Given the description of an element on the screen output the (x, y) to click on. 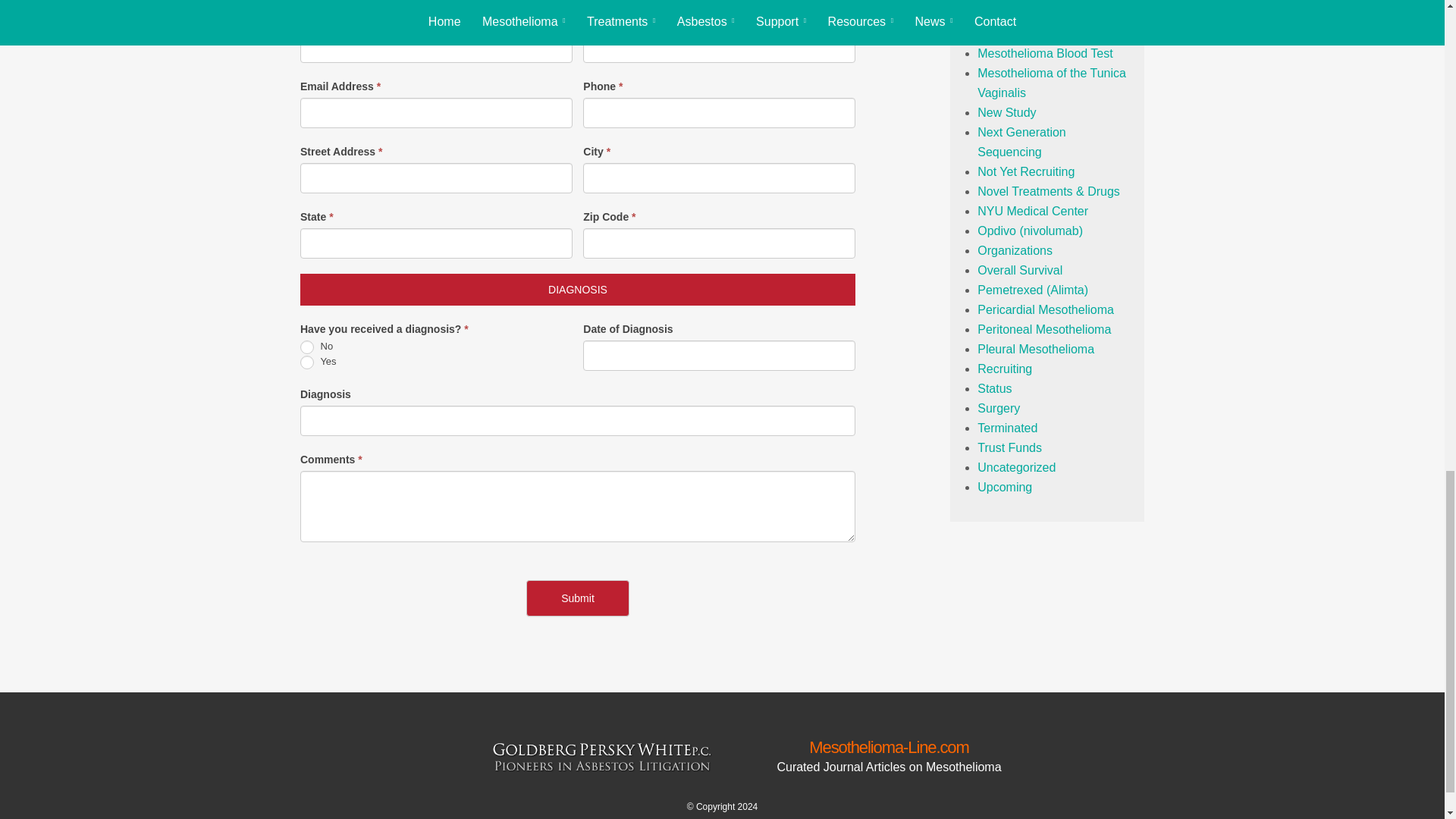
No (306, 346)
Yes (306, 362)
